Given the description of an element on the screen output the (x, y) to click on. 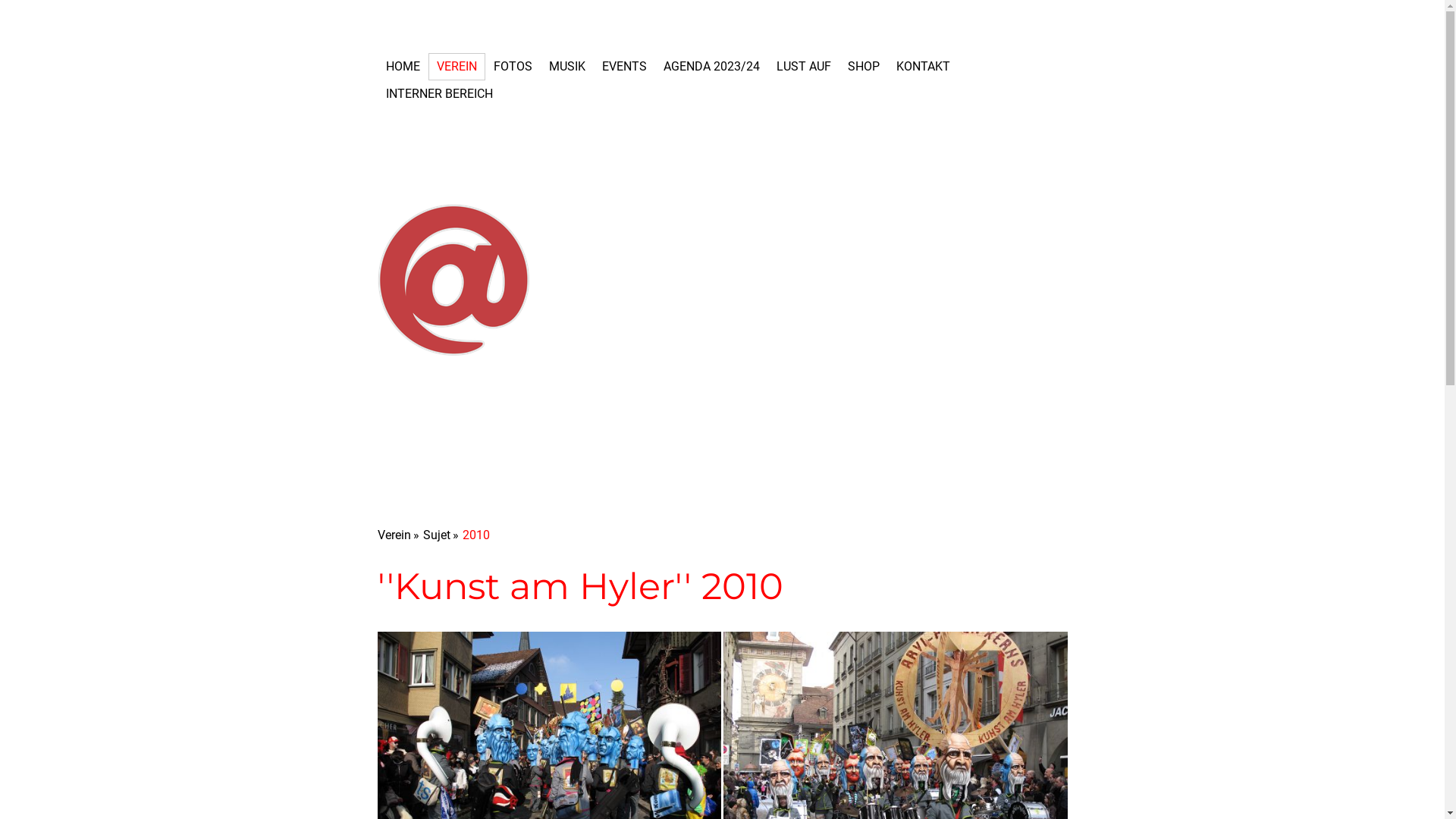
Verein Element type: text (400, 535)
LUST AUF Element type: text (802, 66)
EVENTS Element type: text (623, 66)
FOTOS Element type: text (512, 66)
Sujet Element type: text (442, 535)
SHOP Element type: text (862, 66)
MUSIK Element type: text (566, 66)
HOME Element type: text (402, 66)
KONTAKT Element type: text (922, 66)
INTERNER BEREICH Element type: text (439, 93)
2010 Element type: text (478, 535)
AGENDA 2023/24 Element type: text (711, 66)
VEREIN Element type: text (455, 66)
